Given the description of an element on the screen output the (x, y) to click on. 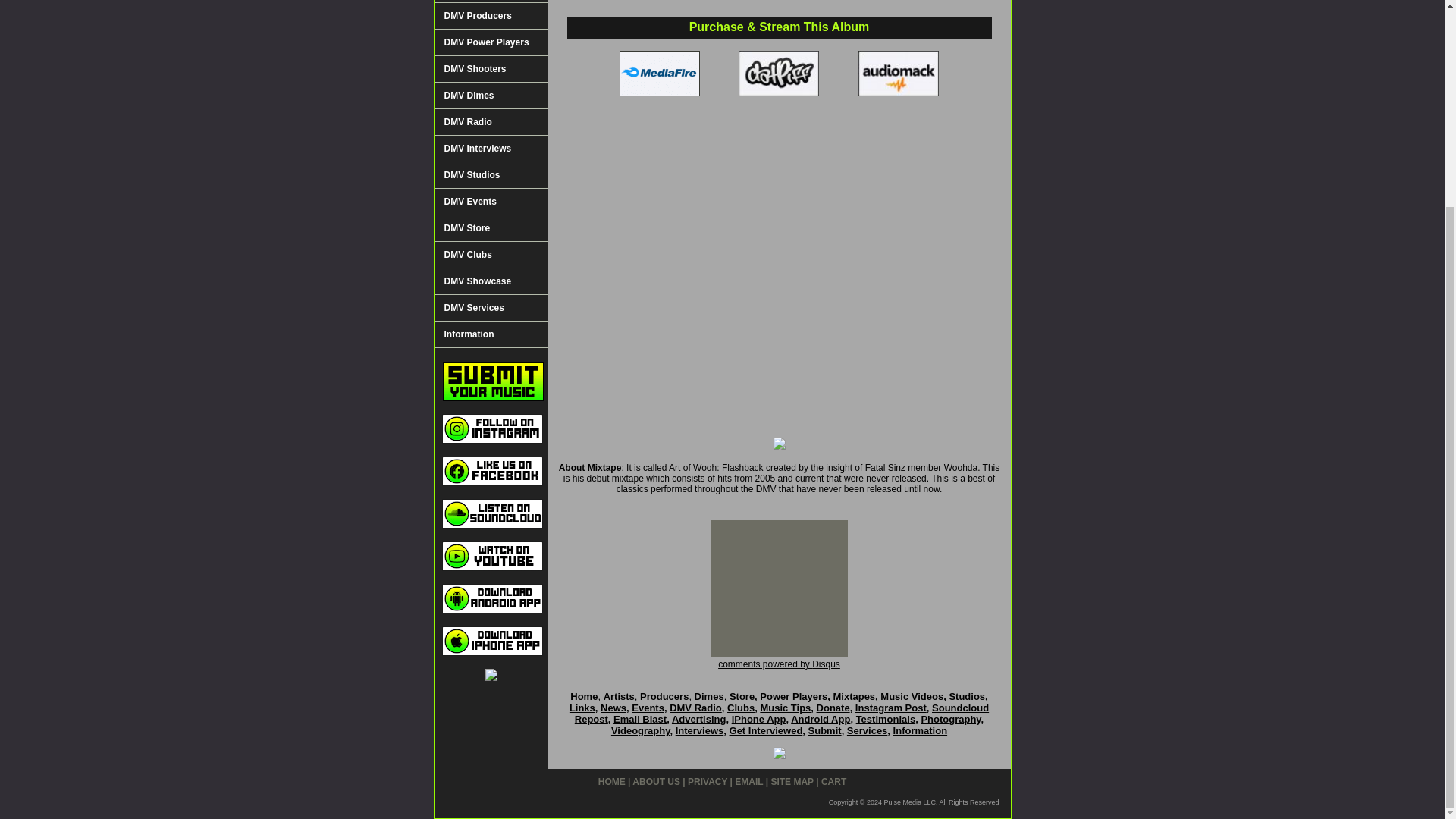
DMV Artists (490, 1)
DMV Power Players (490, 42)
Home (583, 696)
DMV Dimes (490, 95)
Videography (640, 730)
DMV Interviews (490, 148)
Producers (664, 696)
DMV Shooters (490, 69)
Information (490, 334)
Power Players (793, 696)
